Given the description of an element on the screen output the (x, y) to click on. 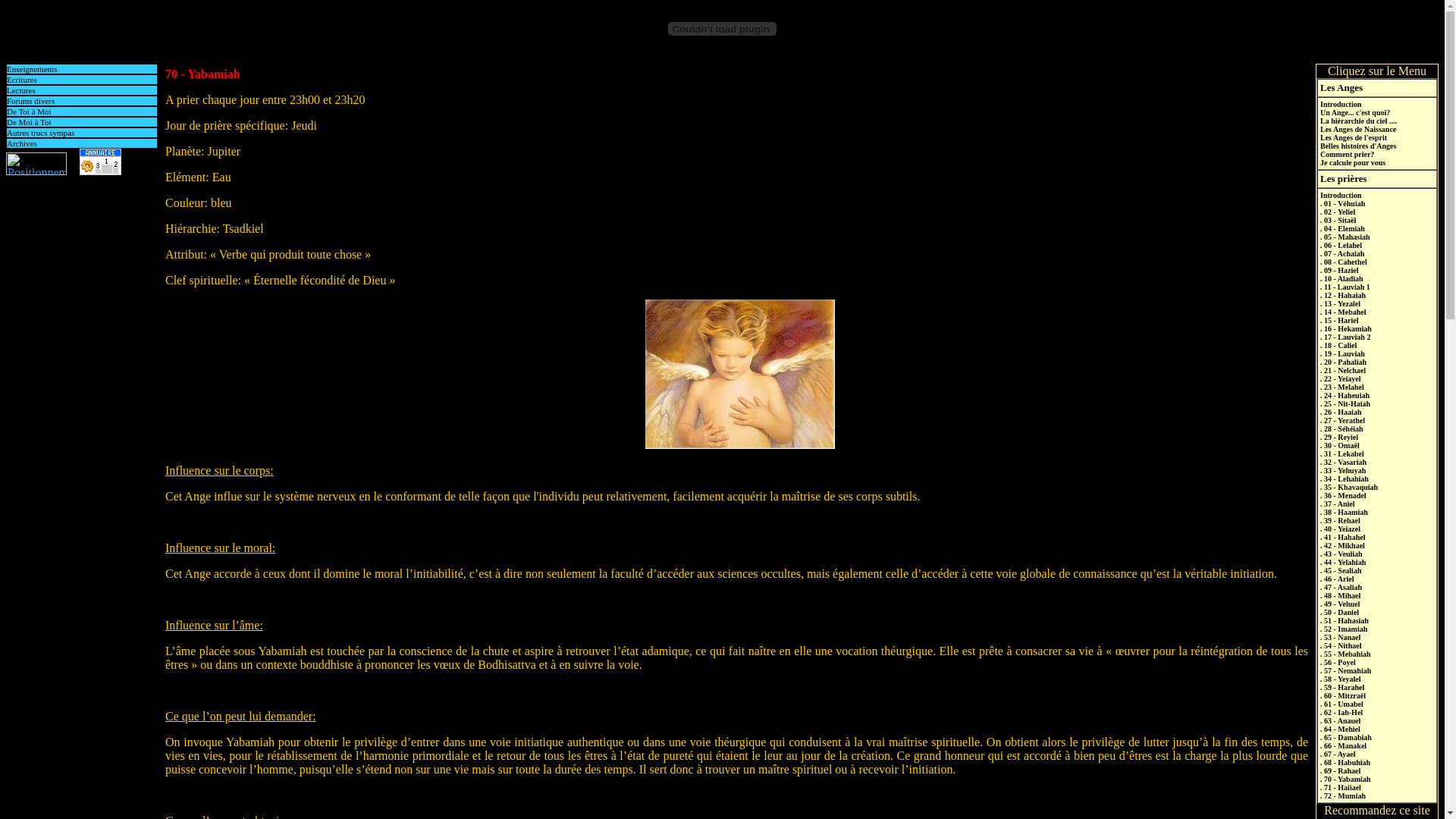
. 54 - Nithael Element type: text (1340, 645)
. 10 - Aladiah Element type: text (1341, 278)
Les Anges de Naissance Element type: text (1358, 129)
. 52 - Imamiah Element type: text (1343, 628)
. 55 - Mebahiah Element type: text (1345, 653)
. 17 - Lauviah 2 Element type: text (1345, 336)
. 44 - Yelahiah Element type: text (1342, 562)
. 07 - Achaiah Element type: text (1342, 253)
. 20 - Pahaliah Element type: text (1343, 361)
. 35 - Khavaquiah Element type: text (1348, 487)
. 23 - Melahel Element type: text (1342, 386)
. 34 - Lehahiah Element type: text (1344, 478)
. 33 - Yehuyah Element type: text (1342, 470)
. 56 - Poyel Element type: text (1337, 662)
. 40 - Yeiazel Element type: text (1340, 528)
. 49 - Vehuel Element type: text (1339, 603)
Un Ange... c'est quoi? Element type: text (1355, 112)
Je calcule pour vous Element type: text (1352, 162)
. 68 - Habuhiah Element type: text (1345, 762)
Introduction Element type: text (1340, 195)
. 53 - Nanael Element type: text (1340, 637)
. 16 - Hekamiah Element type: text (1345, 328)
. 19 - Lauviah Element type: text (1342, 353)
. 67 - Ayael Element type: text (1337, 753)
. 47 - Asaliah Element type: text (1340, 587)
. 06 - Lelahel Element type: text (1340, 245)
. 32 - Vasariah Element type: text (1343, 462)
. 69 - Rahael Element type: text (1340, 770)
Comment prier? Element type: text (1347, 154)
. 29 - Reyiel Element type: text (1339, 437)
. 61 - Umabel Element type: text (1341, 703)
. 13 - Yezalel Element type: text (1340, 303)
Belles histoires d'Anges Element type: text (1358, 145)
. 02 - Yeliel Element type: text (1337, 211)
. 08 - Cahethel Element type: text (1343, 261)
. 12 - Hahaiah Element type: text (1342, 295)
. 45 - Sealiah Element type: text (1340, 570)
. 26 - Haaiah Element type: text (1340, 411)
. 41 - Hahahel Element type: text (1342, 537)
Introduction Element type: text (1340, 104)
. 46 - Ariel Element type: text (1336, 578)
. 36 - Menadel Element type: text (1343, 495)
. 62 - Iah-Hel Element type: text (1341, 712)
. 09 - Haziel Element type: text (1339, 270)
. 04 - Elemiah Element type: text (1342, 228)
. 27 - Yerathel Element type: text (1342, 420)
. 37 - Aniel Element type: text (1337, 503)
. 11 - Lauviah 1 Element type: text (1345, 286)
. 63 - Anauel Element type: text (1340, 720)
. 72 - Mumiah Element type: text (1342, 795)
. 24 - Haheuiah Element type: text (1344, 395)
. 64 - Mehiel Element type: text (1340, 728)
. 66 - Manakel Element type: text (1343, 745)
. 42 - Mikhael Element type: text (1342, 545)
. 05 - Mahasiah Element type: text (1345, 236)
. 43 - Veuliah Element type: text (1341, 553)
. 50 - Daniel Element type: text (1339, 612)
. 48 - Mihael Element type: text (1340, 595)
. 21 - Nelchael Element type: text (1342, 370)
. 18 - Caliel Element type: text (1338, 345)
. 57 - Nemahiah Element type: text (1345, 670)
. 70 - Yabamiah Element type: text (1345, 779)
. 71 - Haiiael Element type: text (1340, 787)
Les Anges de l'esprit Element type: text (1353, 137)
. 25 - Nit-Haiah Element type: text (1345, 403)
. 22 - Yeiayel Element type: text (1340, 378)
. 65 - Damabiah Element type: text (1345, 737)
70 - Yabamiah Element type: text (202, 73)
. 39 - Rehael Element type: text (1340, 520)
. 14 - Mebahel Element type: text (1343, 311)
. 59 - Harahel Element type: text (1342, 687)
. 58 - Yeyalel Element type: text (1340, 678)
. 51 - Hahasiah Element type: text (1344, 620)
. 15 - Hariel Element type: text (1339, 320)
. 38 - Haamiah Element type: text (1344, 512)
. 31 - Lekabel Element type: text (1342, 453)
